Given the description of an element on the screen output the (x, y) to click on. 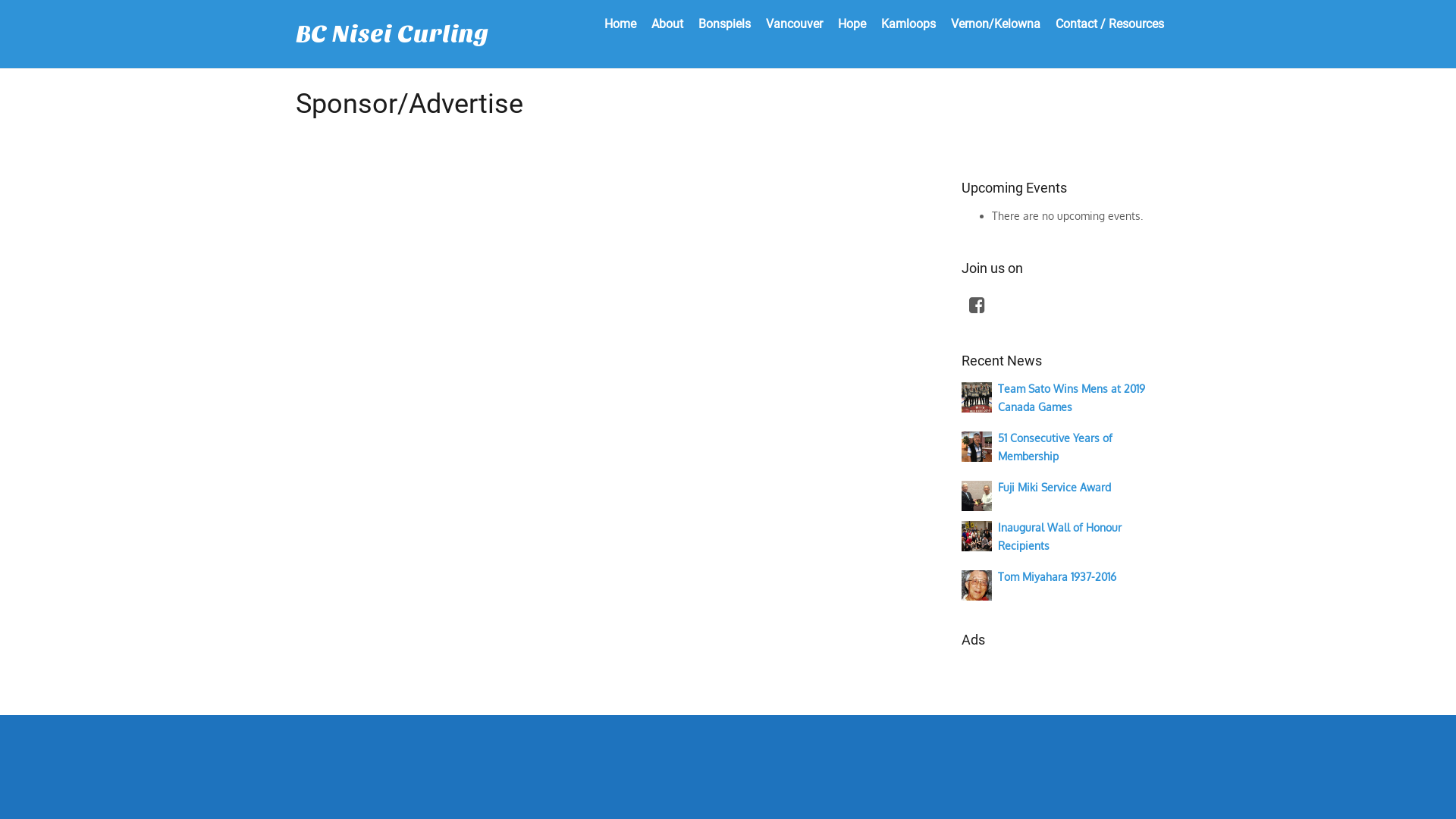
Fuji Miki Service Award Element type: text (1053, 486)
Inaugural Wall of Honour Recipients Element type: hover (976, 534)
51 Consecutive Years of Membership Element type: text (1054, 445)
51 Consecutive Years of Membership Element type: hover (976, 445)
Vernon/Kelowna Element type: text (995, 24)
Team Sato Wins Mens at 2019 Canada Games Element type: hover (976, 395)
Vancouver Element type: text (794, 24)
Team Sato Wins Mens at 2019 Canada Games Element type: text (1071, 397)
Home Element type: text (619, 24)
Bonspiels Element type: text (724, 24)
BC Nisei Curling Element type: text (391, 34)
Tom Miyahara 1937-2016 Element type: text (1056, 576)
Kamloops Element type: text (908, 24)
Tom Miyahara 1937-2016 Element type: hover (976, 583)
Fuji Miki Service Award Element type: hover (976, 494)
About Element type: text (666, 24)
Inaugural Wall of Honour Recipients Element type: text (1059, 535)
Hope Element type: text (851, 24)
Contact / Resources Element type: text (1109, 24)
